Given the description of an element on the screen output the (x, y) to click on. 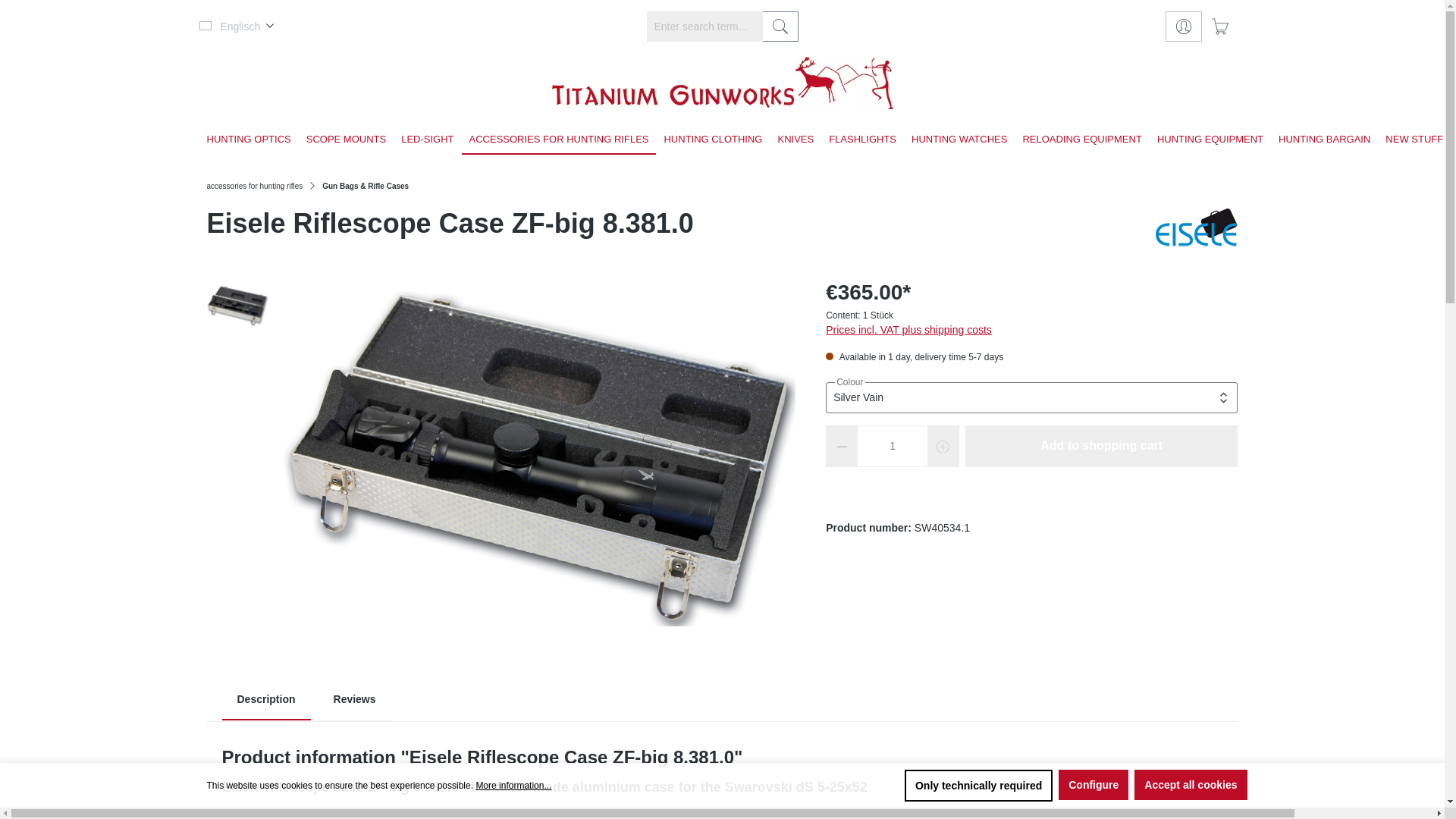
1 (892, 445)
KNIVES (795, 139)
Your account (1182, 26)
HUNTING WATCHES (959, 139)
RELOADING EQUIPMENT (1081, 139)
HUNTING EQUIPMENT (1210, 139)
HUNTING OPTICS (248, 139)
Flashlights (862, 139)
accessories for hunting rifles (558, 139)
Shopping cart (1219, 26)
LED-Sight (427, 139)
Go to homepage (721, 82)
ACCESSORIES FOR HUNTING RIFLES (558, 139)
FLASHLIGHTS (862, 139)
NEW STUFF (1413, 139)
